Given the description of an element on the screen output the (x, y) to click on. 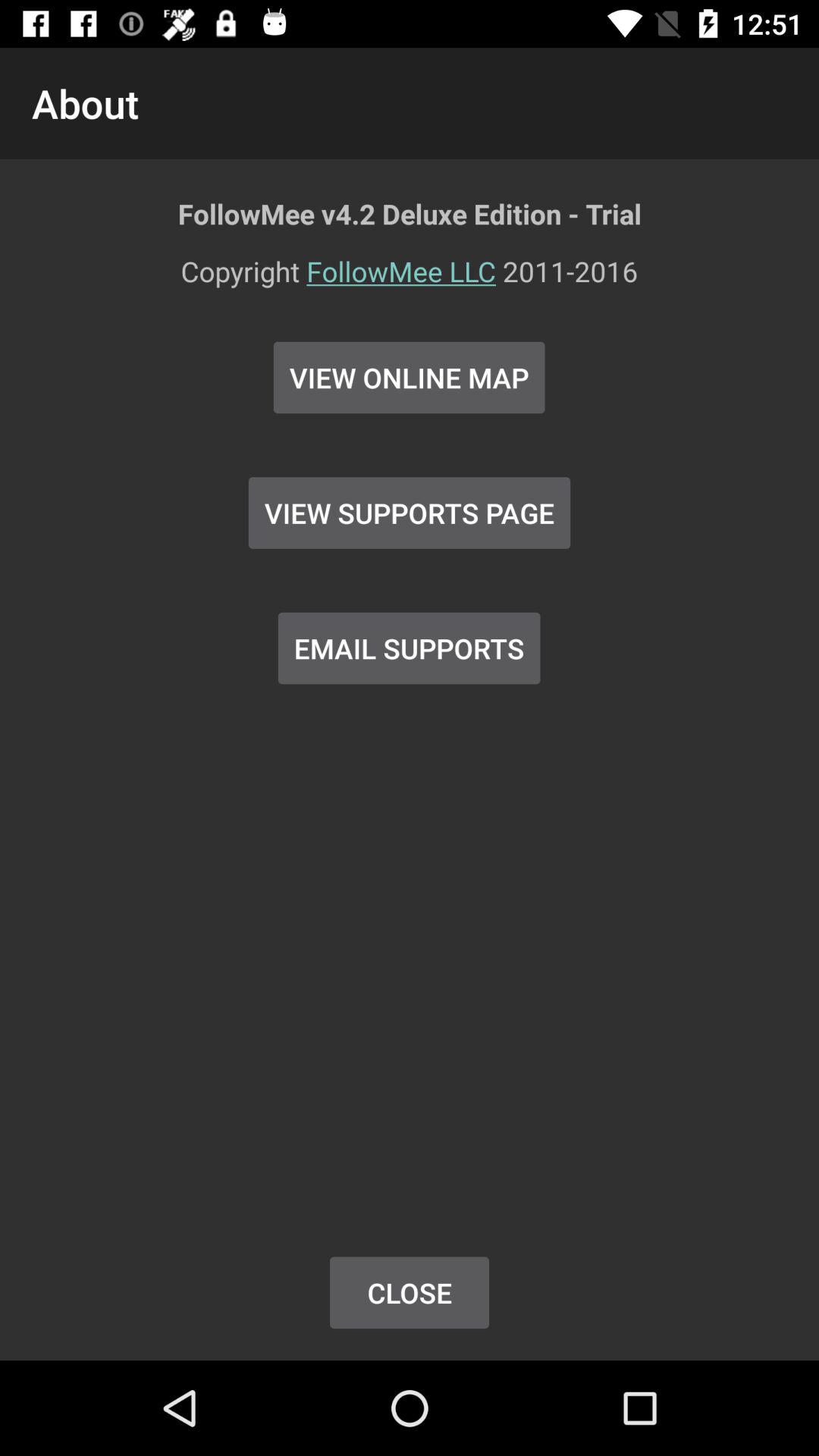
scroll to the close item (409, 1292)
